Given the description of an element on the screen output the (x, y) to click on. 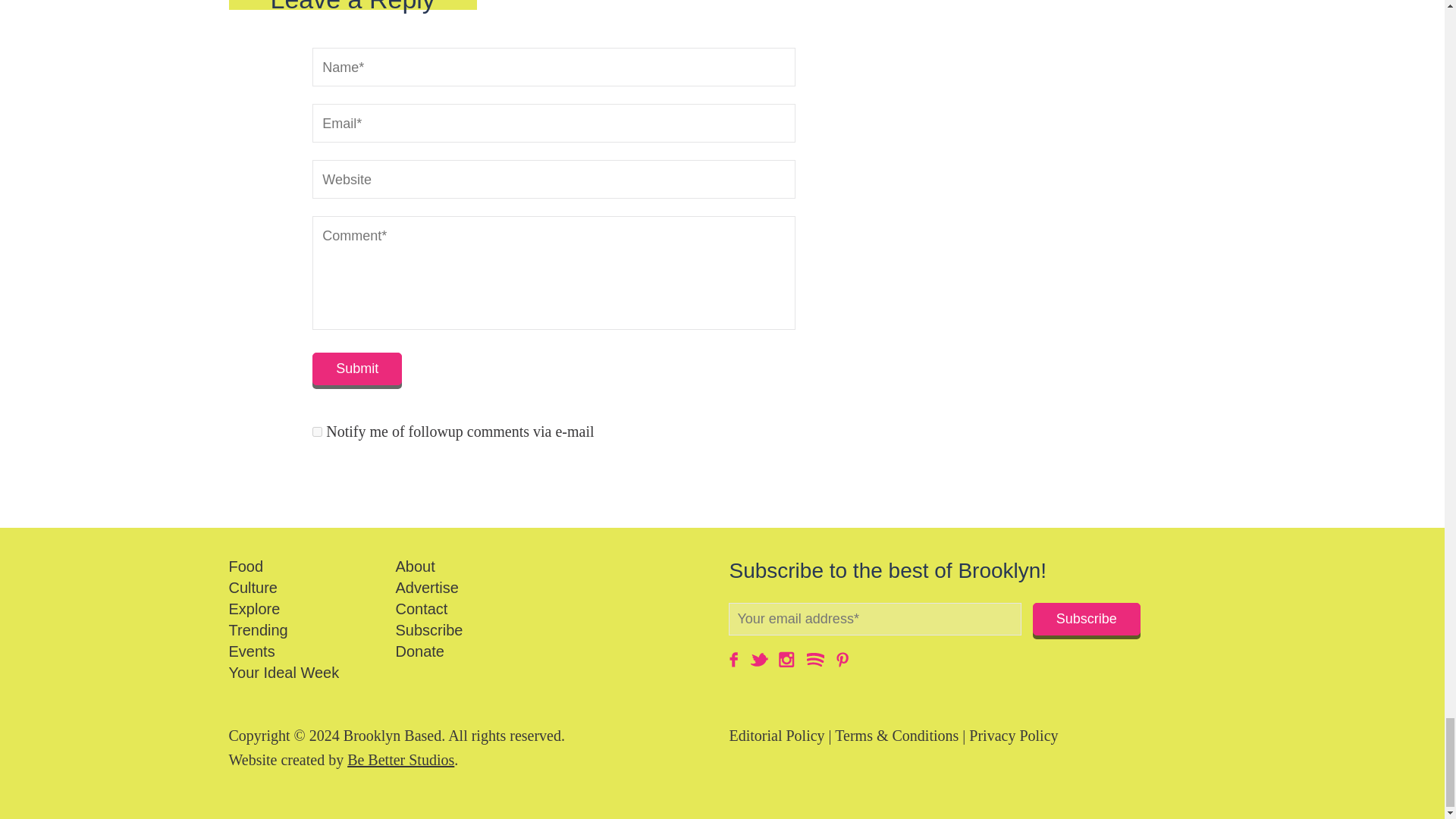
Subscribe (1086, 618)
Follow Brooklyn Based on Twitter (759, 658)
subscribe (317, 431)
Culture (253, 587)
Explore (254, 608)
Submit (357, 368)
Follow Brooklyn Based on Instagram (787, 658)
Submit (357, 368)
Food (245, 565)
Events (251, 651)
